Given the description of an element on the screen output the (x, y) to click on. 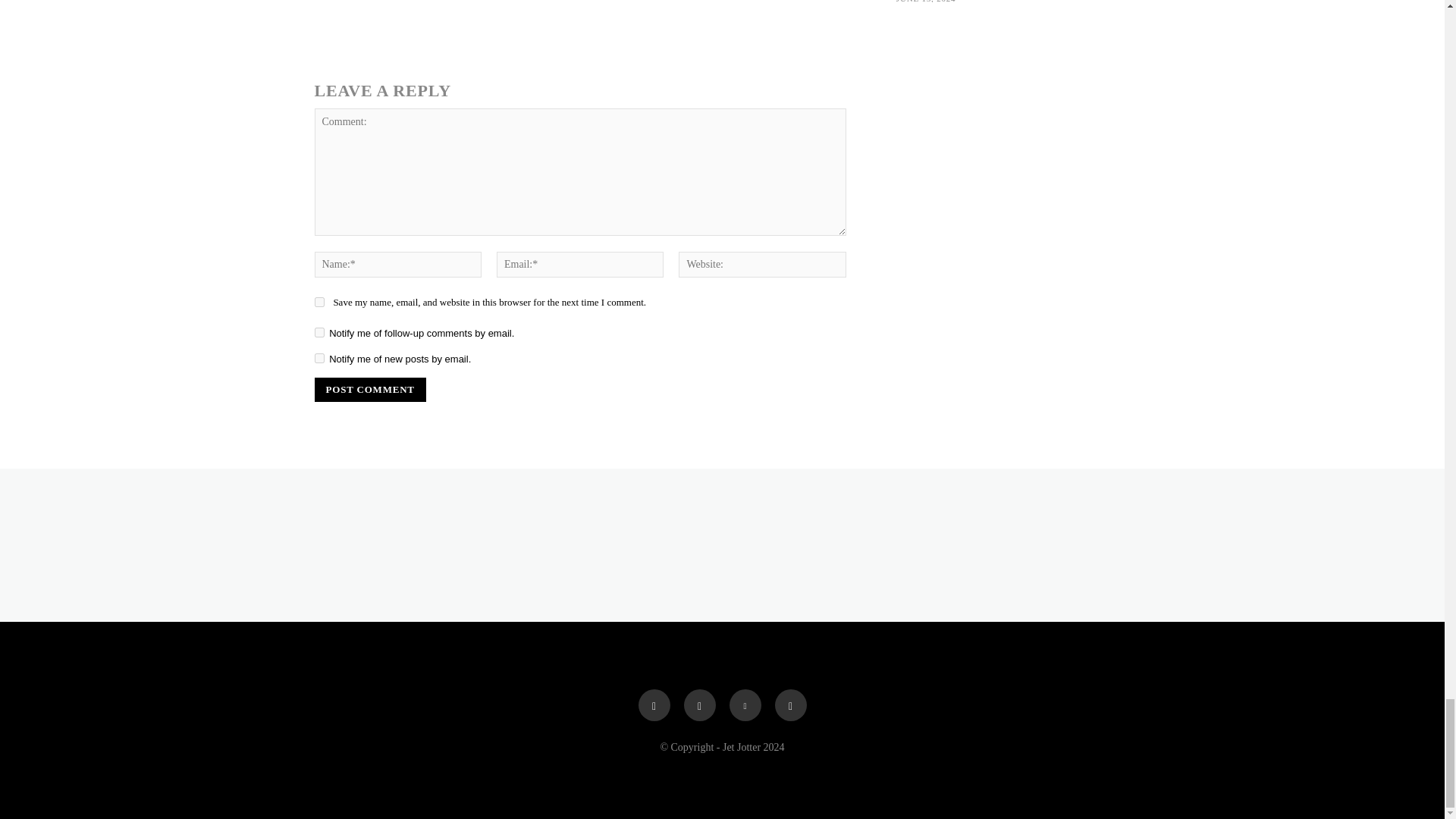
subscribe (318, 357)
yes (318, 302)
Post Comment (369, 389)
subscribe (318, 332)
